Given the description of an element on the screen output the (x, y) to click on. 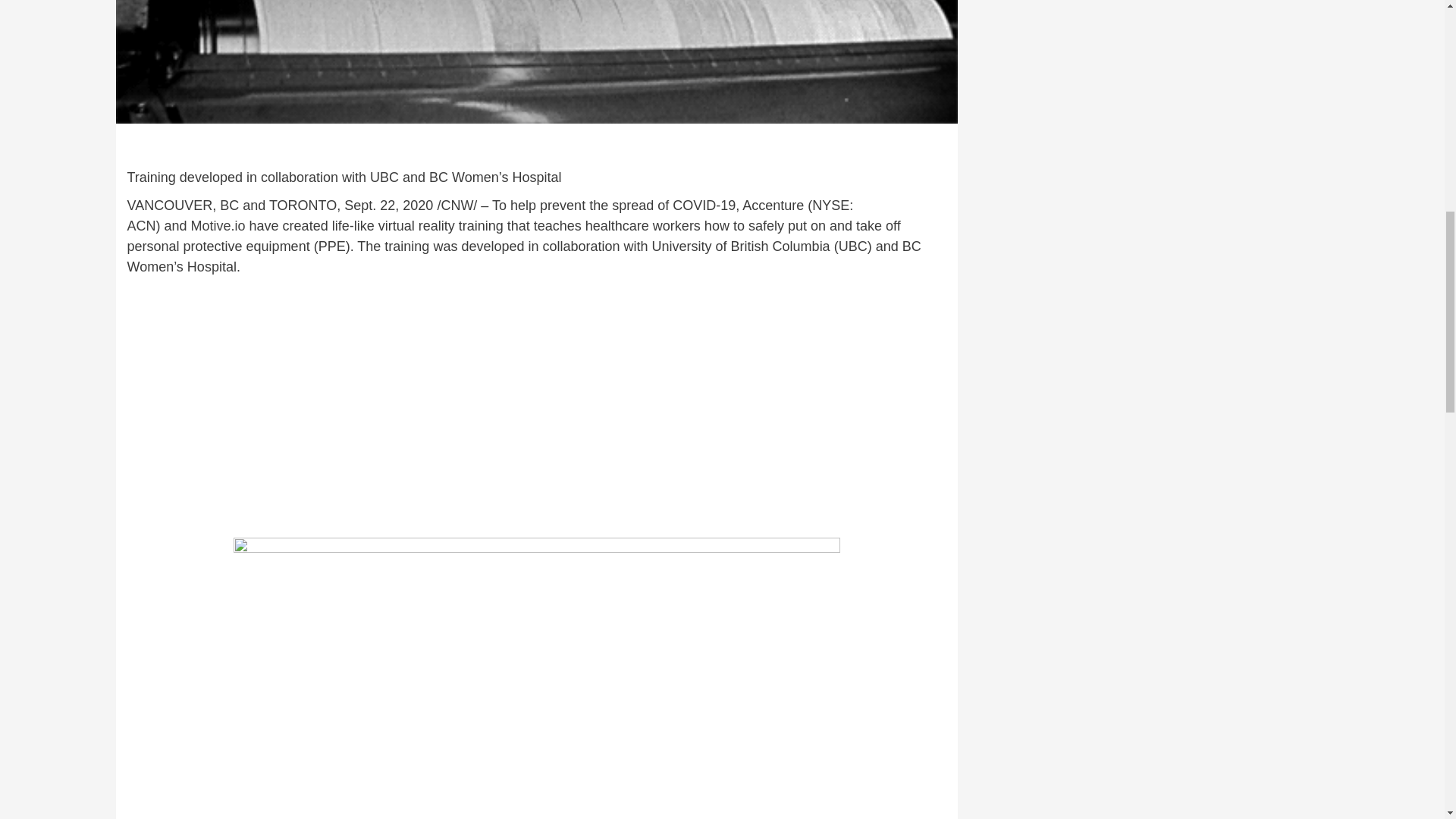
ACN (141, 225)
Motive.io (218, 225)
